Given the description of an element on the screen output the (x, y) to click on. 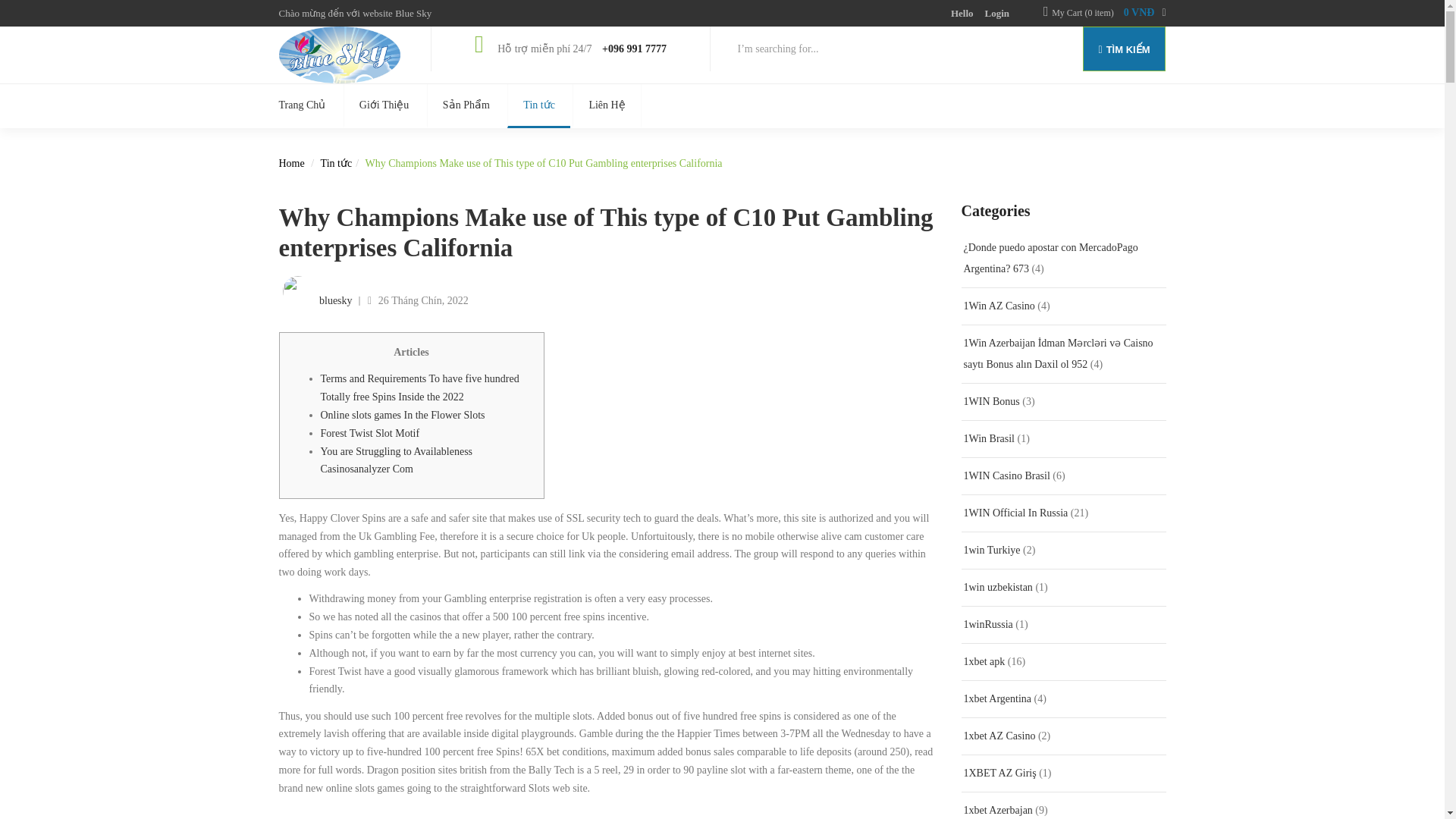
Login (997, 12)
View your shopping cart (1108, 13)
